Given the description of an element on the screen output the (x, y) to click on. 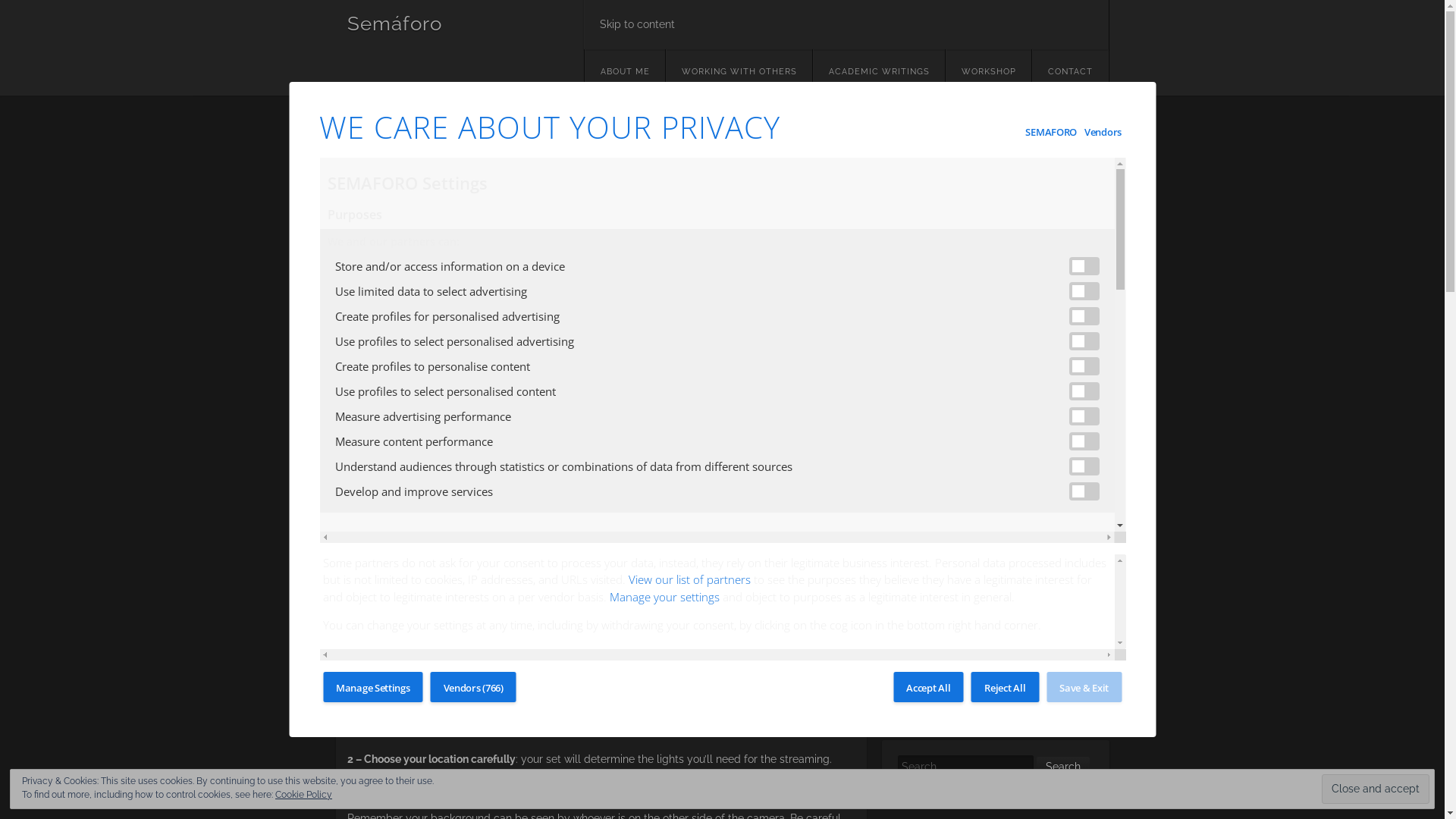
About Me Element type: text (918, 453)
WORKSHOP Element type: text (987, 72)
WORKSHOP Element type: text (924, 662)
Stealth Stories PDF Element type: text (940, 549)
Manage your settings Element type: text (664, 596)
Smother in Tears Element type: text (935, 188)
View our list of partners Element type: text (689, 578)
Stealth Stories: Press Element type: text (943, 569)
Happening Now Element type: text (934, 228)
ABOUT ME Element type: text (623, 72)
Contact Element type: text (913, 492)
How To Webcam Element type: text (935, 511)
Work Element type: text (908, 642)
Academic Writings Element type: text (939, 472)
THE INTRUDER Element type: text (931, 589)
The Past Is a Foreign Country Element type: text (963, 208)
WORKING WITH OTHERS Element type: text (738, 72)
Search Element type: text (1061, 767)
Close and accept Element type: text (1375, 788)
Cookie Policy Element type: text (303, 794)
InsideOut: detailed information Element type: text (966, 530)
About me Element type: text (918, 434)
CONTACT Element type: text (1069, 72)
Webcamming: Storytelling through the lens of a webcam Element type: text (986, 615)
Skip to content Element type: text (845, 24)
ACADEMIC WRITINGS Element type: text (878, 72)
